Given the description of an element on the screen output the (x, y) to click on. 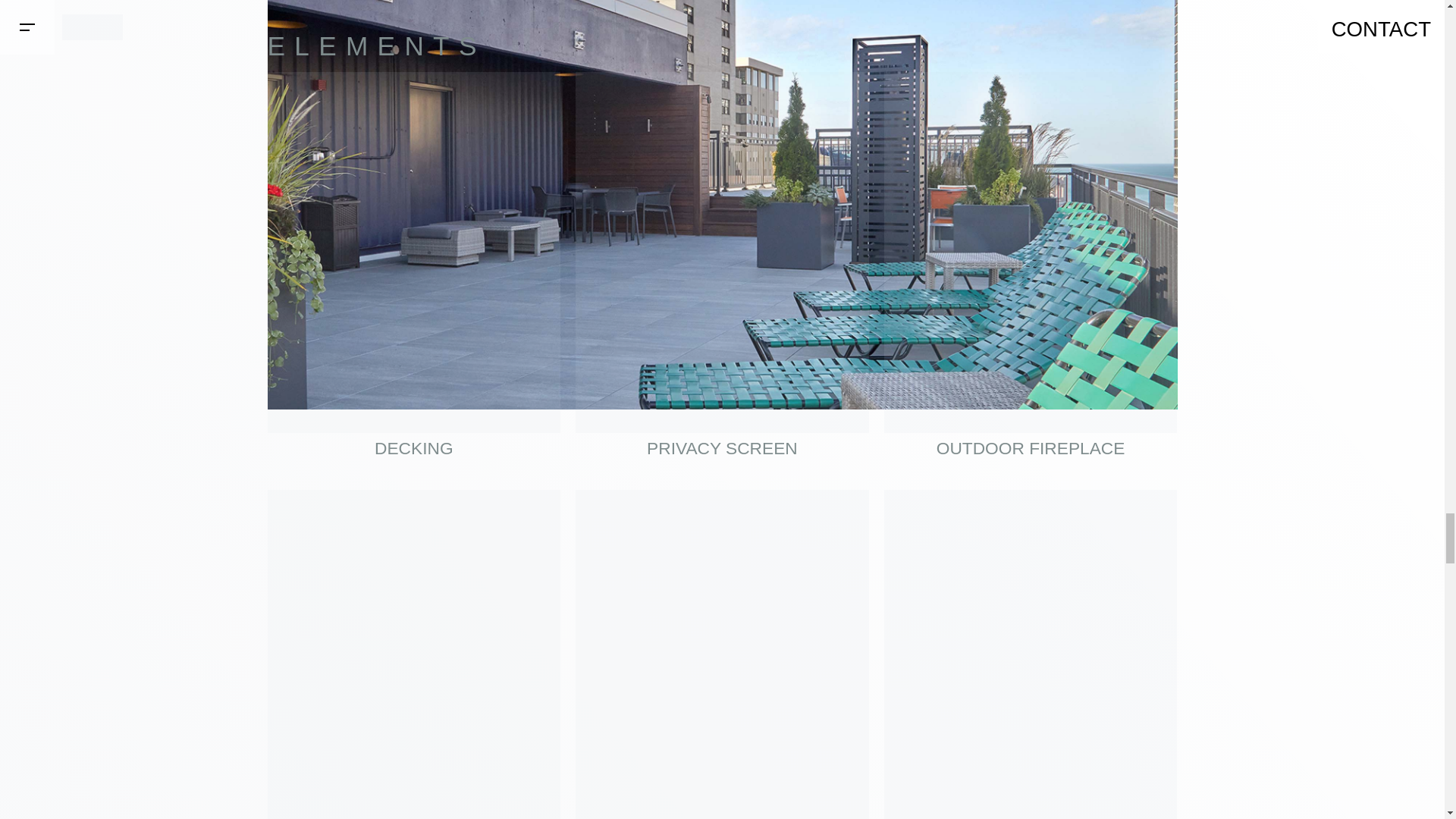
OUTDOOR ENTERTAINMENT (722, 654)
DECK LIGHTING (1030, 654)
ELEMENTS (375, 45)
OUTDOOR PLANTER (413, 654)
